Given the description of an element on the screen output the (x, y) to click on. 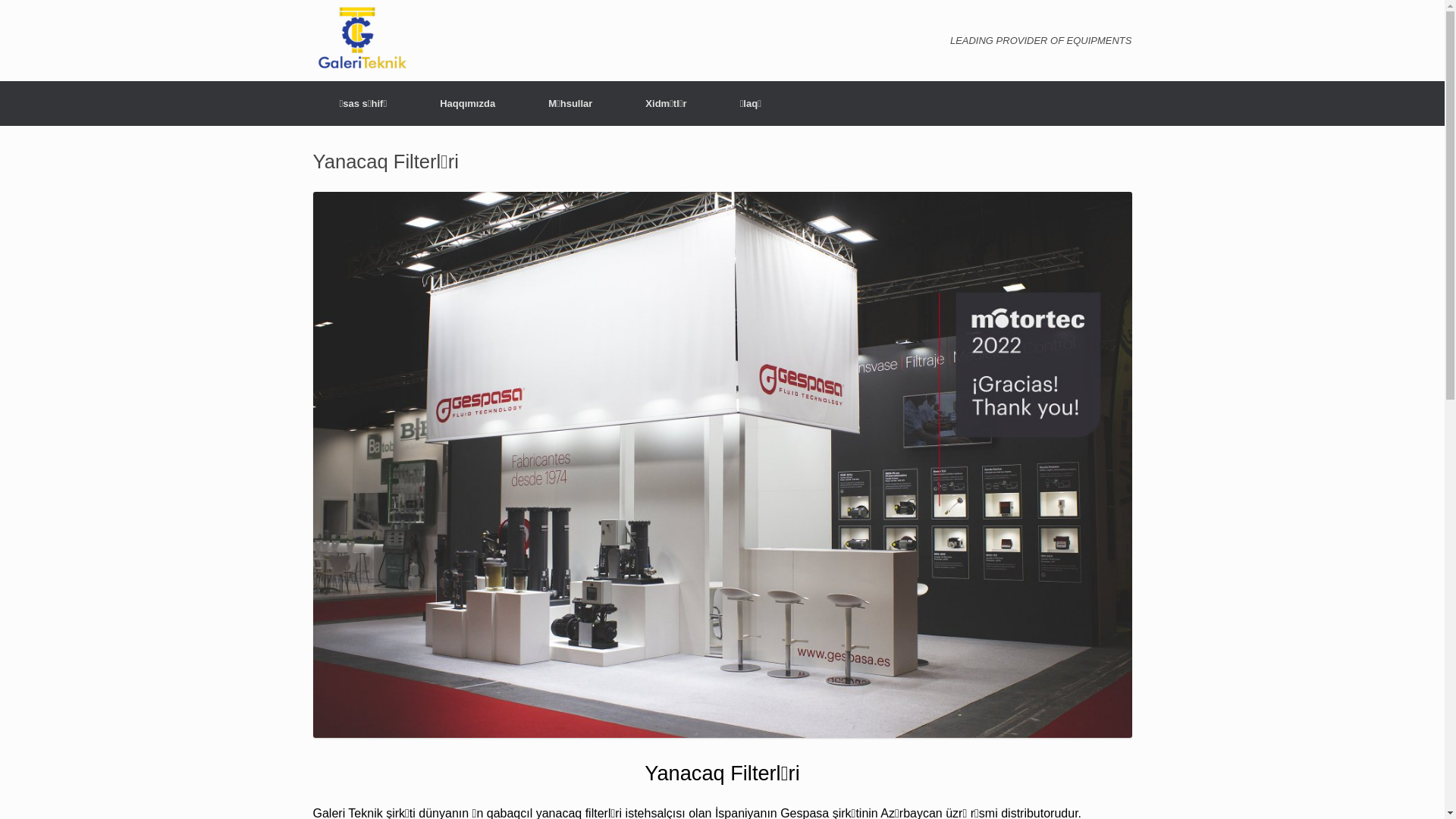
Homepage Element type: hover (361, 68)
Skip to content Element type: text (347, 88)
